Given the description of an element on the screen output the (x, y) to click on. 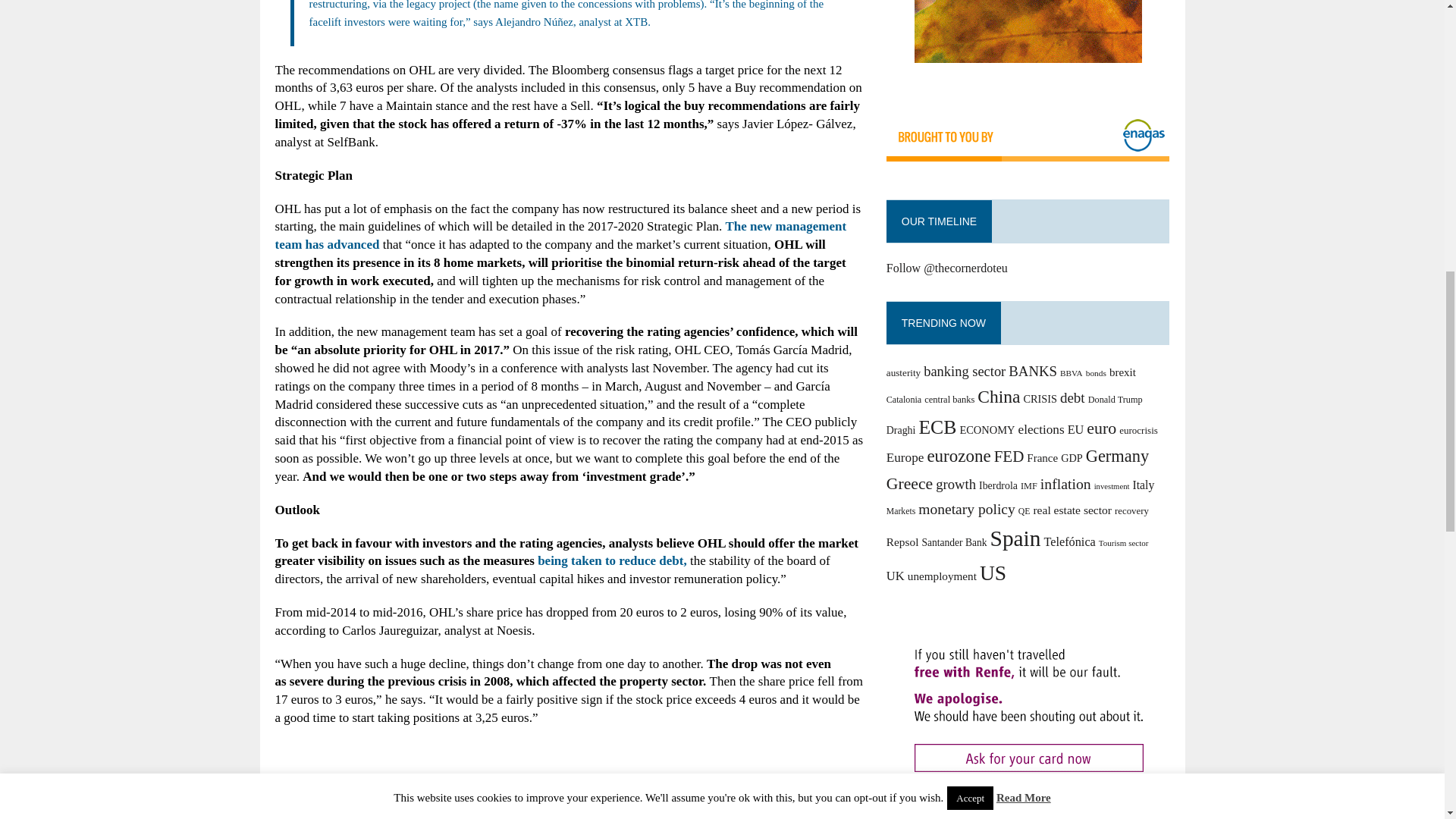
LinkedIn (550, 794)
Twitter (512, 794)
Email (626, 794)
Facebook (588, 794)
